Given the description of an element on the screen output the (x, y) to click on. 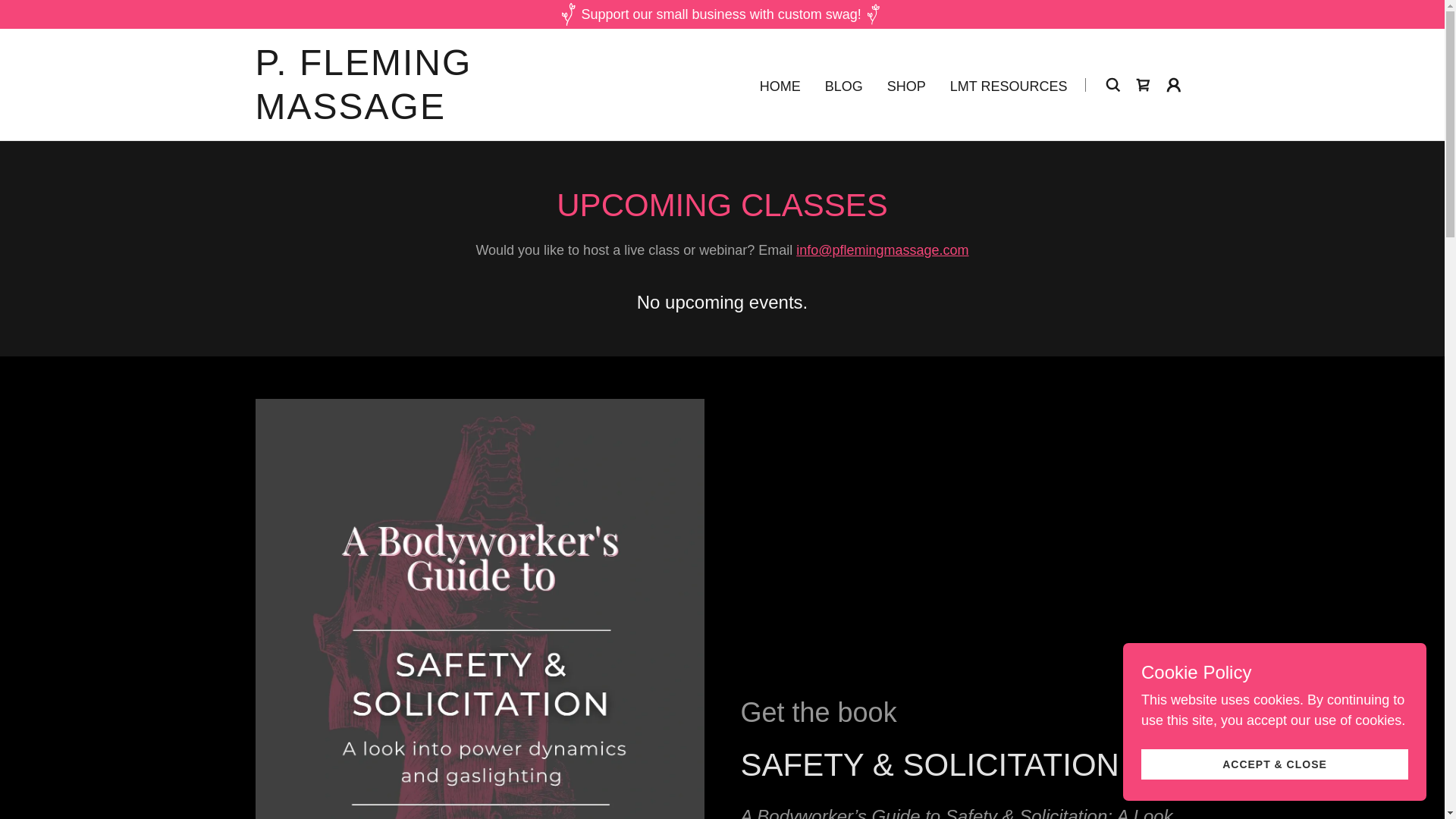
HOME (780, 85)
BLOG (844, 85)
LMT RESOURCES (1007, 85)
P. FLEMING MASSAGE (417, 114)
SHOP (906, 85)
P. Fleming Massage (417, 114)
